Given the description of an element on the screen output the (x, y) to click on. 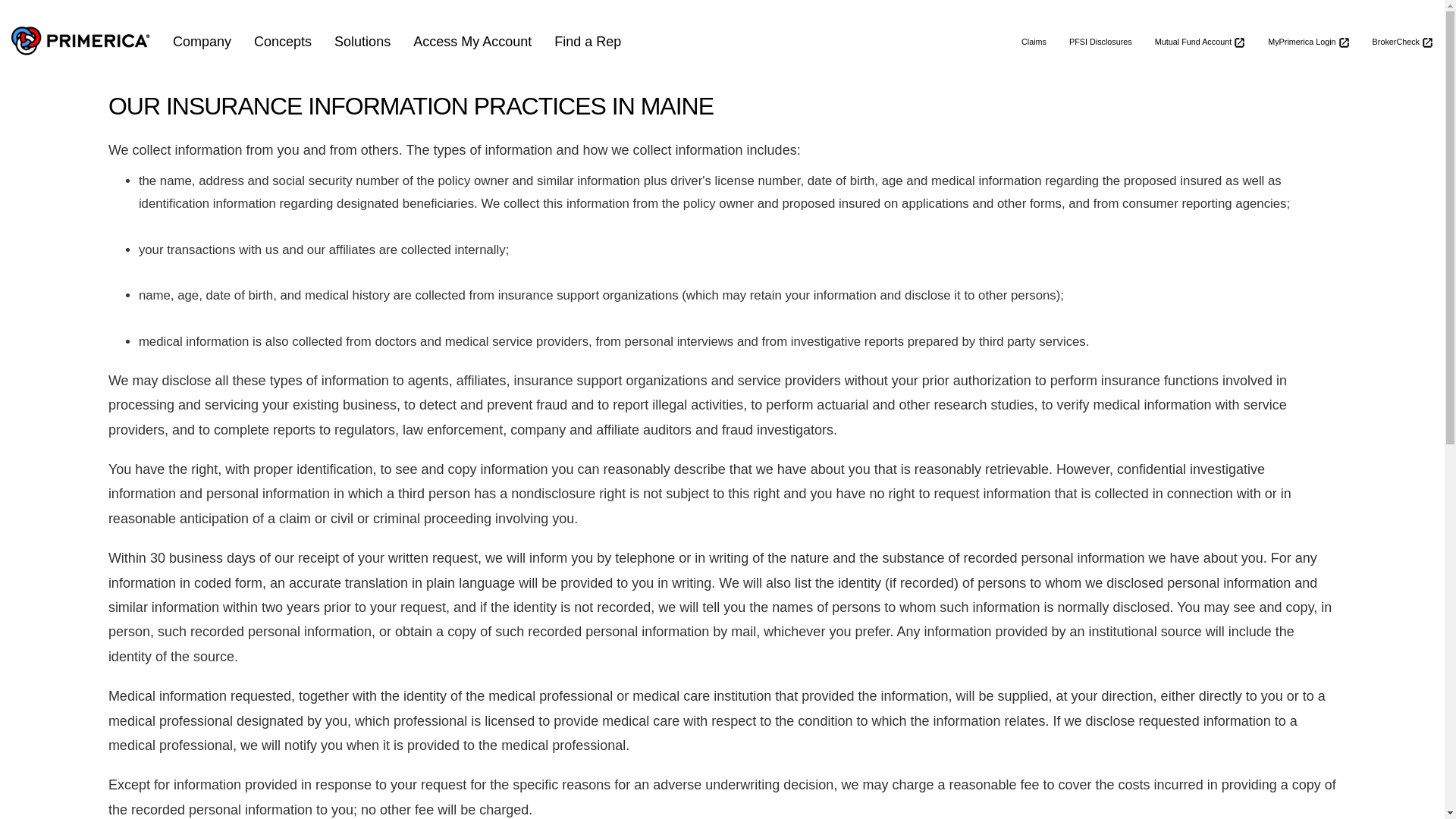
Access My Account (472, 41)
Claims (1034, 41)
Solutions (362, 41)
Company (202, 41)
PFSI Disclosures (1100, 41)
Find a Rep (587, 41)
Concepts (283, 41)
